Given the description of an element on the screen output the (x, y) to click on. 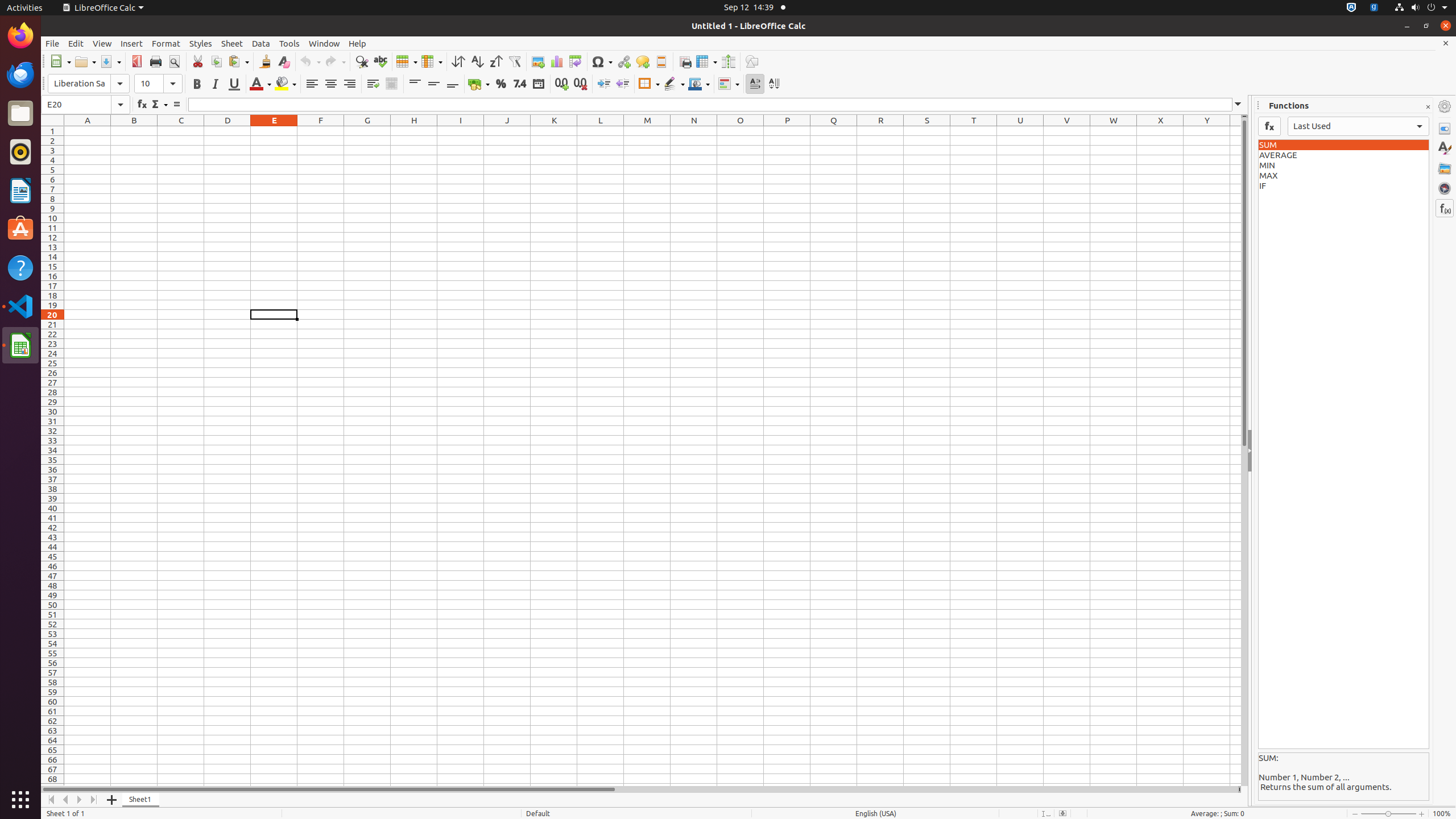
Tools Element type: menu (289, 43)
System Element type: menu (1420, 7)
IF Element type: list-item (1343, 185)
Move Right Element type: push-button (79, 799)
